Given the description of an element on the screen output the (x, y) to click on. 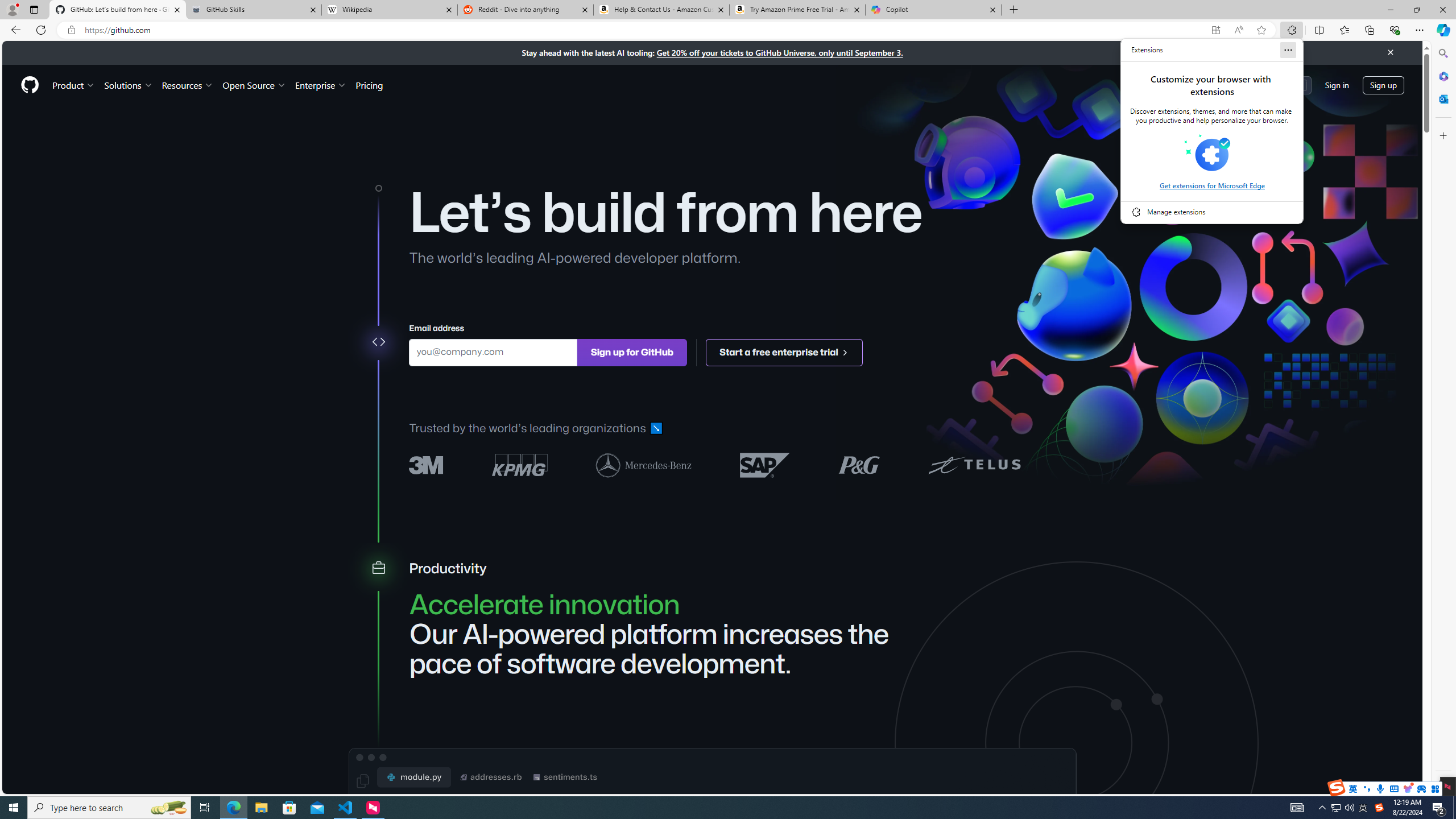
Q2790: 100% (1349, 807)
File Explorer (261, 807)
Get extensions for Microsoft Edge (1211, 184)
Microsoft Store (289, 807)
Visual Studio Code - 1 running window (345, 807)
